Given the description of an element on the screen output the (x, y) to click on. 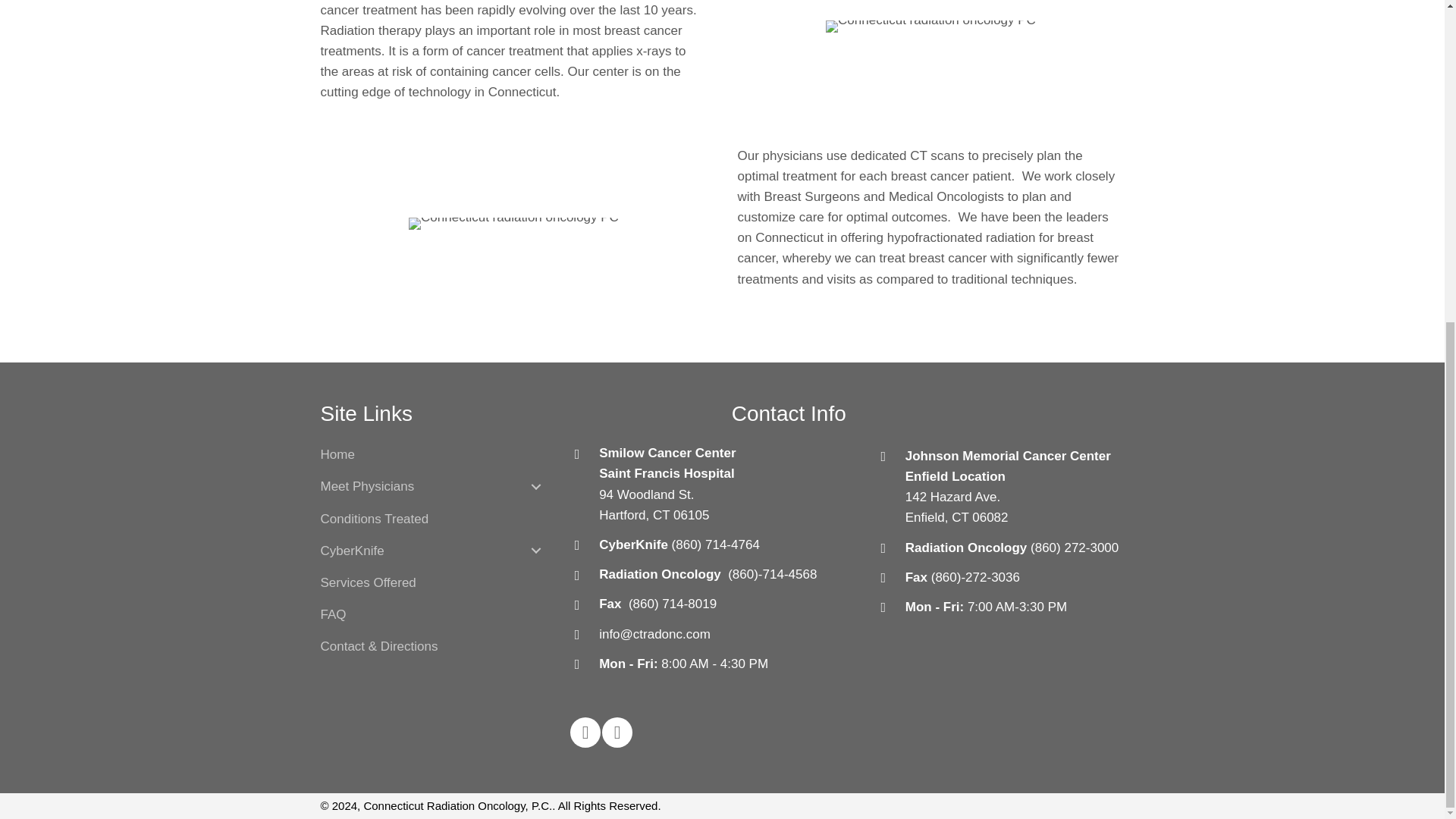
Home (336, 454)
CyberKnife (357, 550)
Connecticut radiation oncology PC (513, 223)
Conditions Treated (374, 518)
Facebook (584, 732)
Connecticut radiation oncology PC (930, 26)
Meet Physicians (372, 486)
Instagram (616, 732)
